Given the description of an element on the screen output the (x, y) to click on. 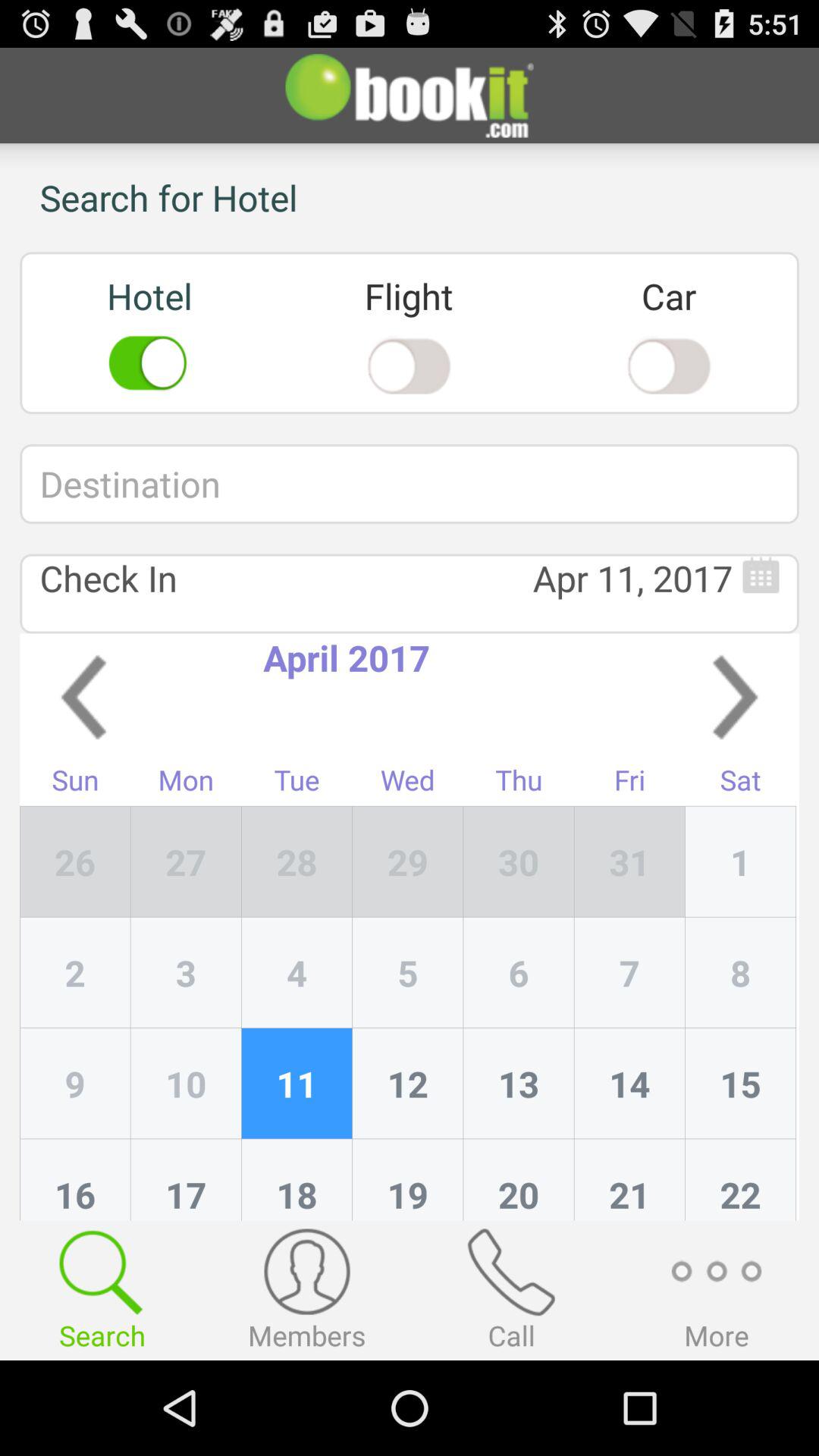
turn on the icon next to 7 (518, 1083)
